Given the description of an element on the screen output the (x, y) to click on. 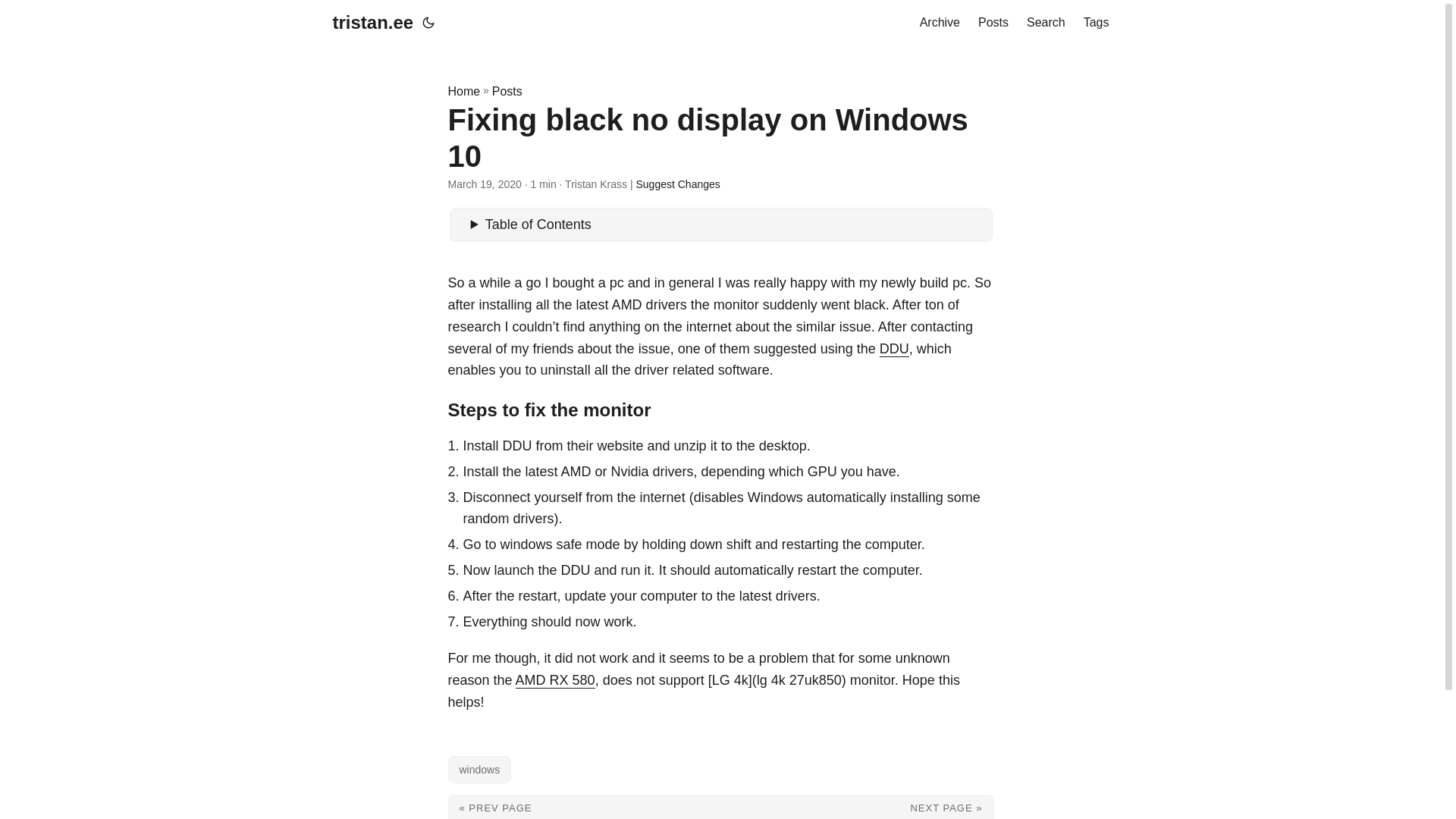
tristan.ee (372, 22)
windows (478, 768)
DDU (893, 348)
AMD RX 580 (555, 679)
Suggest Changes (676, 184)
Posts (507, 91)
Home (463, 91)
